Given the description of an element on the screen output the (x, y) to click on. 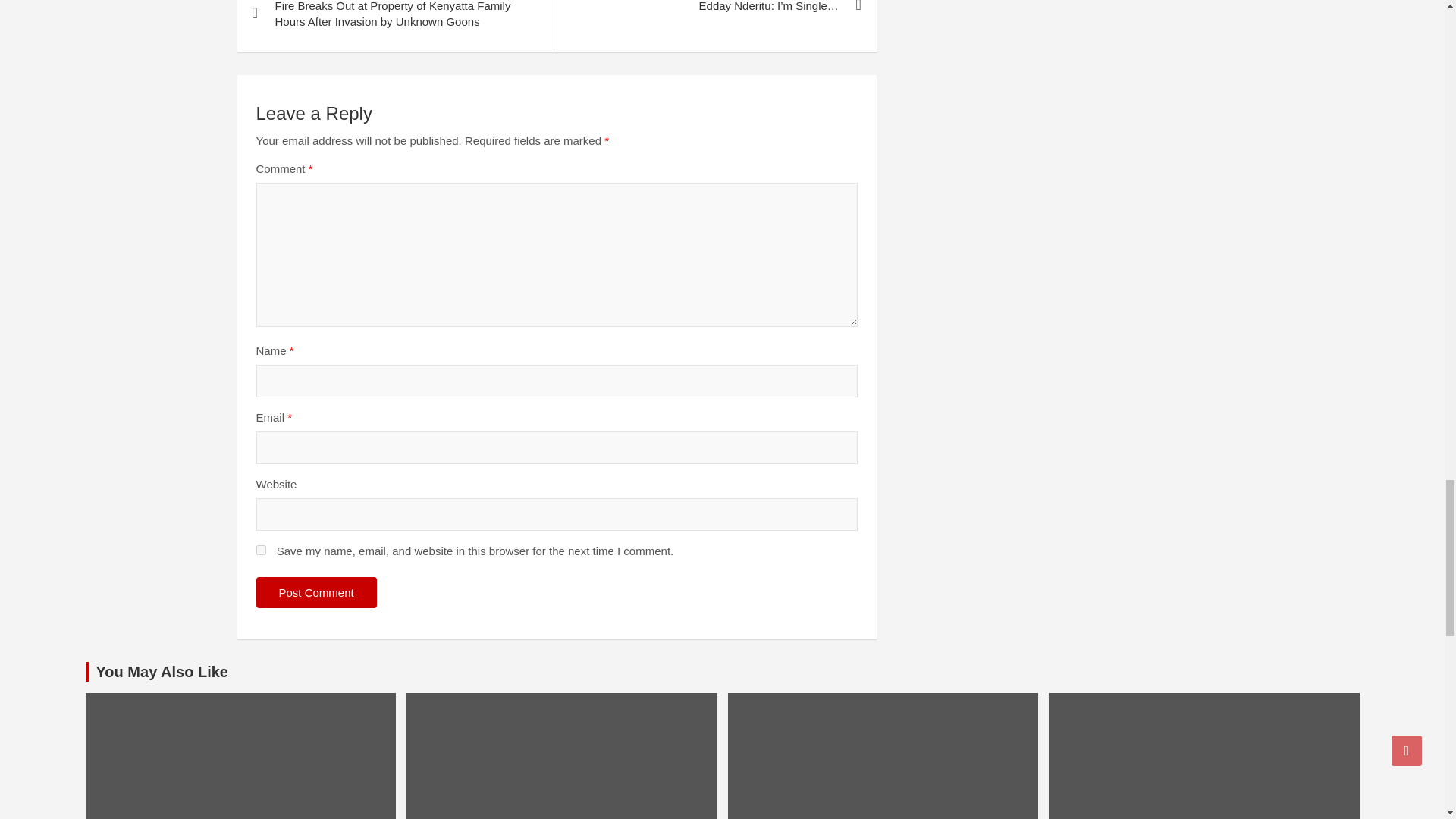
yes (261, 550)
Post Comment (316, 592)
Post Comment (316, 592)
